Given the description of an element on the screen output the (x, y) to click on. 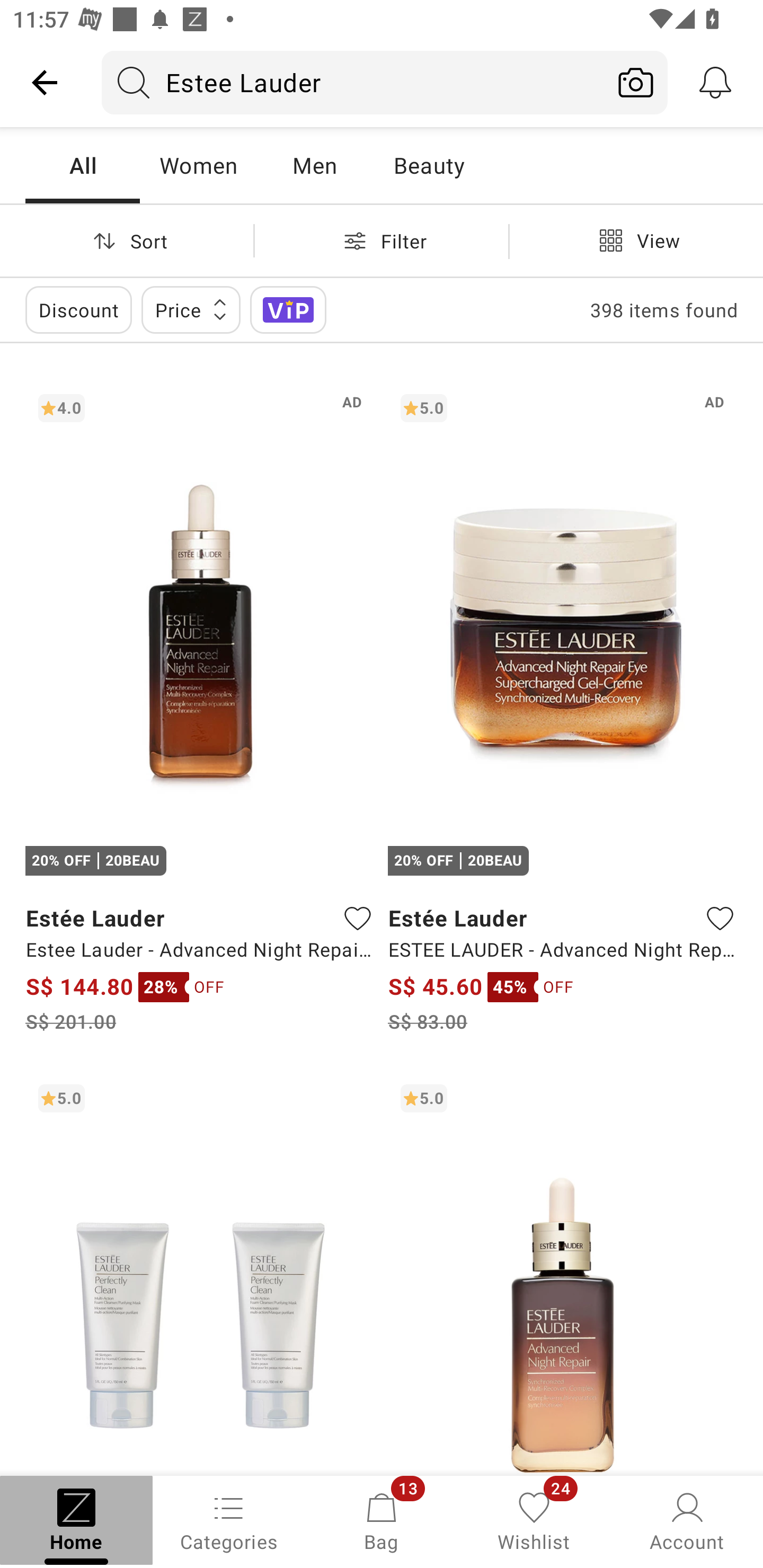
Navigate up (44, 82)
Estee Lauder (352, 82)
Women (198, 165)
Men (314, 165)
Beauty (428, 165)
Sort (126, 240)
Filter (381, 240)
View (636, 240)
Discount (78, 309)
Price (190, 309)
5.0 (200, 1272)
5.0 (562, 1272)
Categories (228, 1519)
Bag, 13 new notifications Bag (381, 1519)
Wishlist, 24 new notifications Wishlist (533, 1519)
Account (686, 1519)
